Given the description of an element on the screen output the (x, y) to click on. 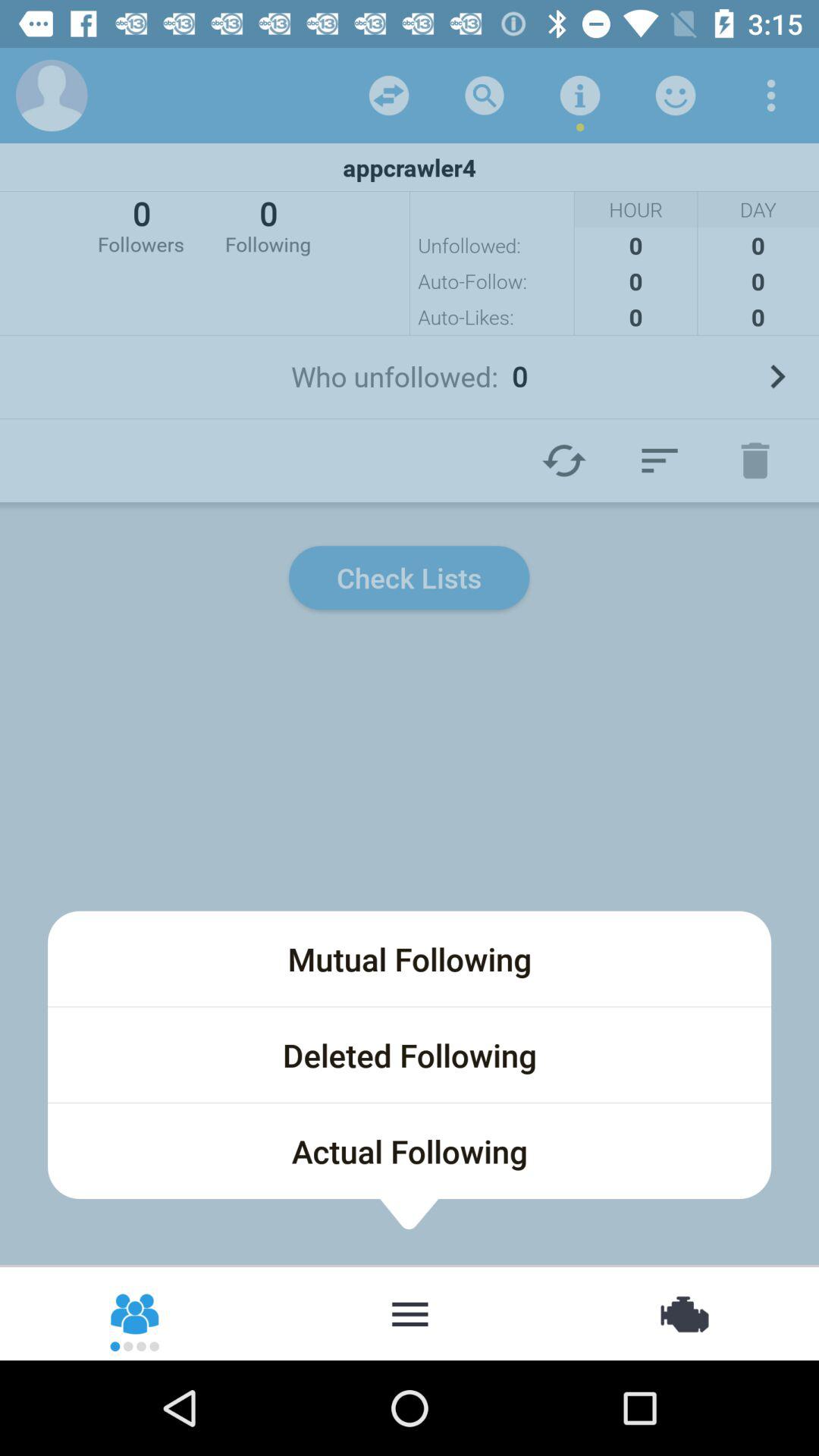
launch the icon below the check lists item (409, 958)
